Given the description of an element on the screen output the (x, y) to click on. 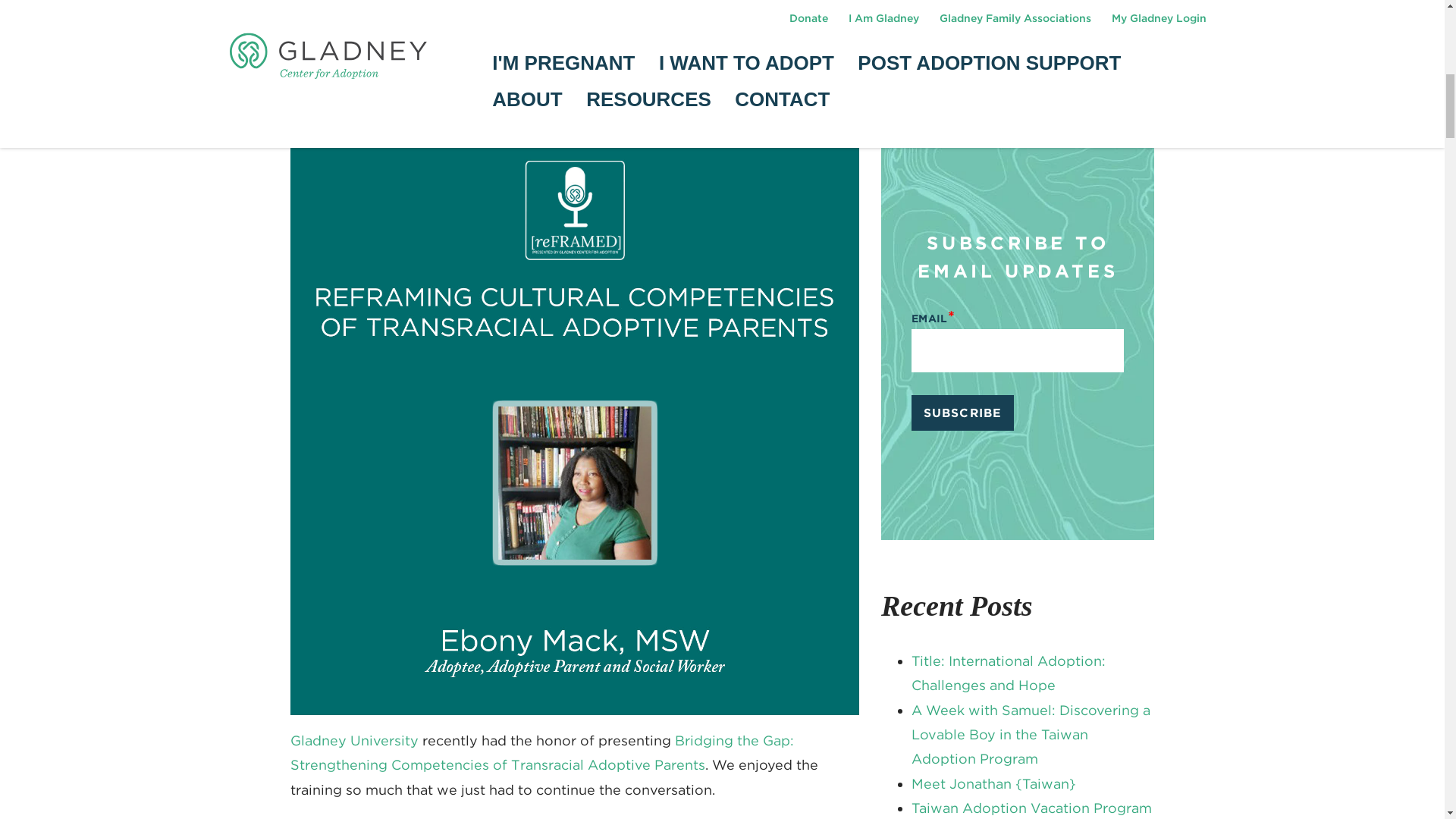
Share (362, 131)
Nancy Robbins (413, 85)
Subscribe (962, 412)
Tweet (311, 126)
Gladney University (353, 740)
